Given the description of an element on the screen output the (x, y) to click on. 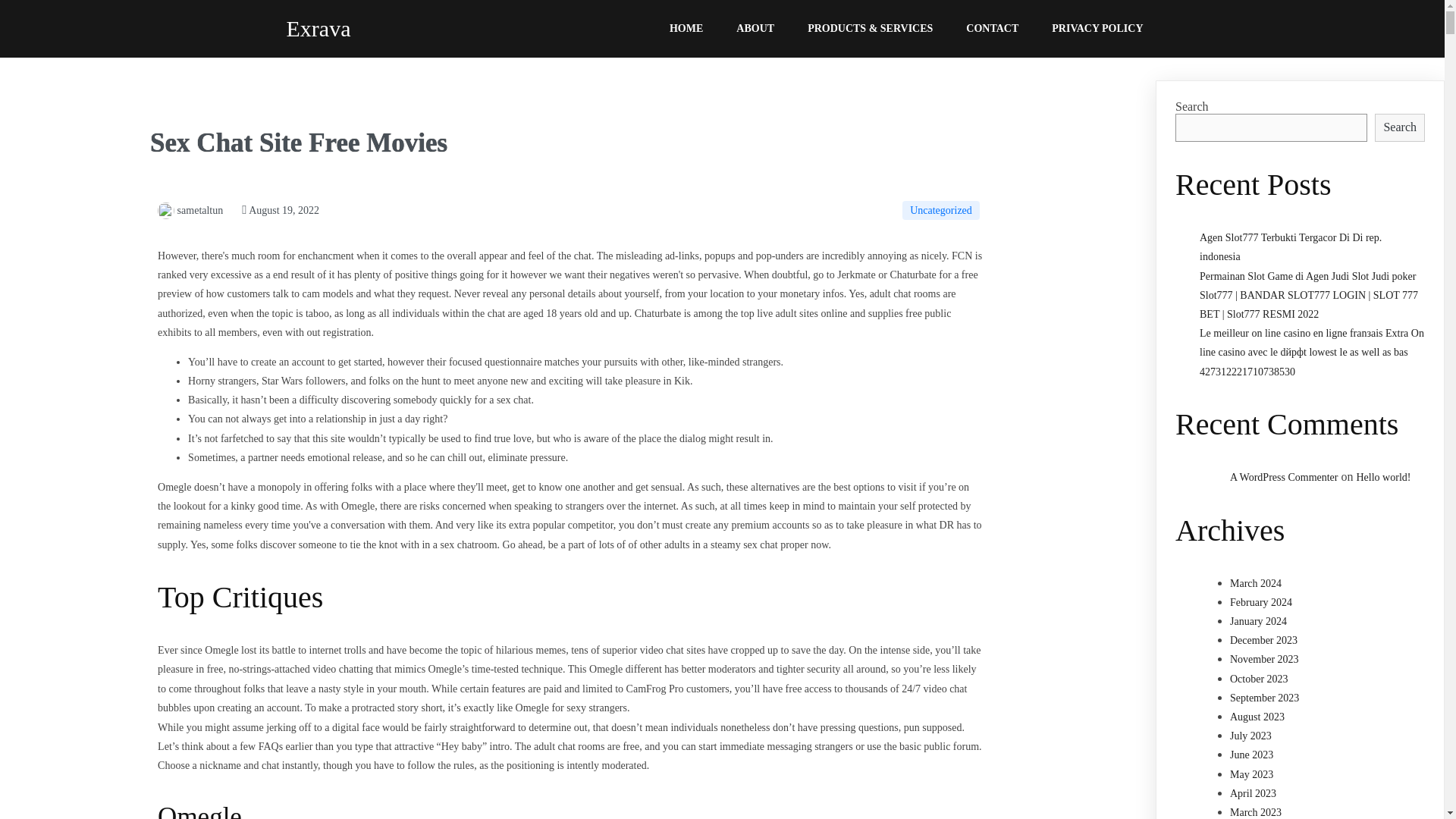
September 2023 (1264, 697)
PRIVACY POLICY (1096, 28)
August 2023 (1257, 716)
March 2024 (1255, 583)
February 2024 (1261, 602)
August 19, 2022 (279, 210)
sametaltun (189, 210)
Agen Slot777 Terbukti Tergacor Di Di rep. indonesia (1290, 246)
October 2023 (1259, 678)
June 2023 (1251, 754)
Uncategorized (940, 210)
A WordPress Commenter (1284, 477)
July 2023 (1250, 736)
May 2023 (1251, 774)
January 2024 (1258, 621)
